Given the description of an element on the screen output the (x, y) to click on. 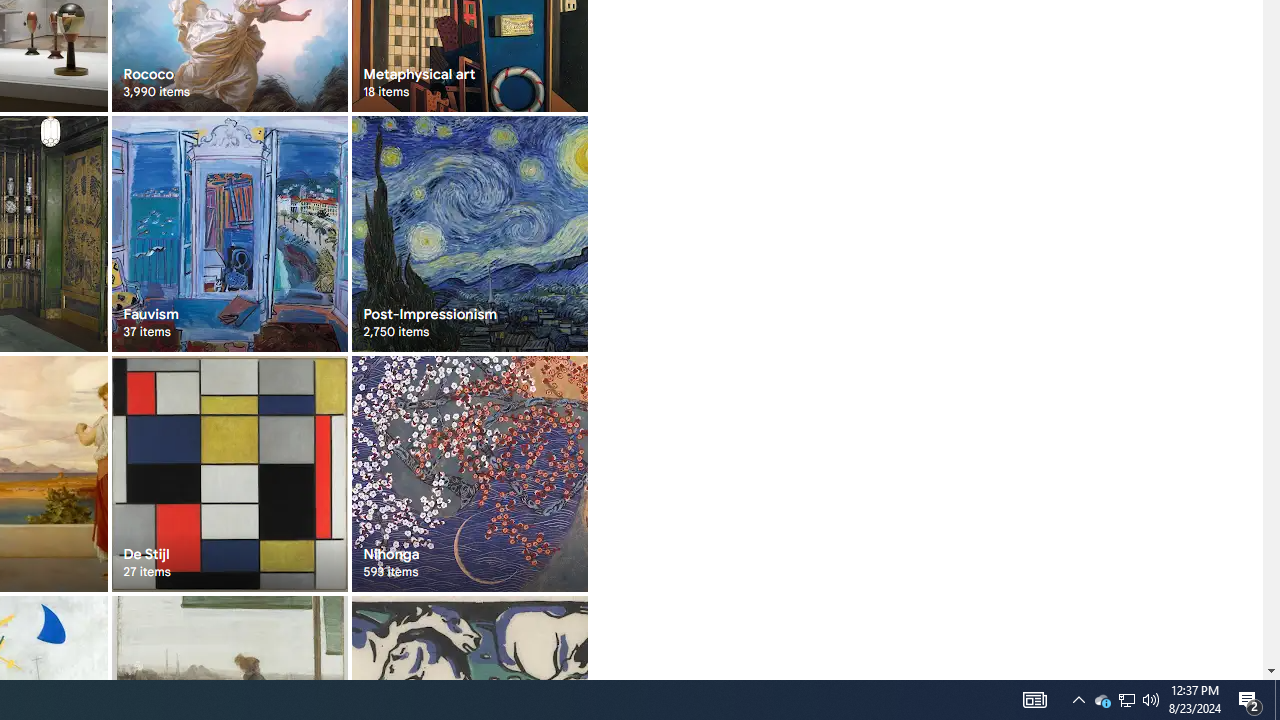
Nihonga 593 items (468, 473)
Fauvism 37 items (229, 233)
De Stijl 27 items (229, 473)
Post-Impressionism 2,750 items (468, 233)
